Given the description of an element on the screen output the (x, y) to click on. 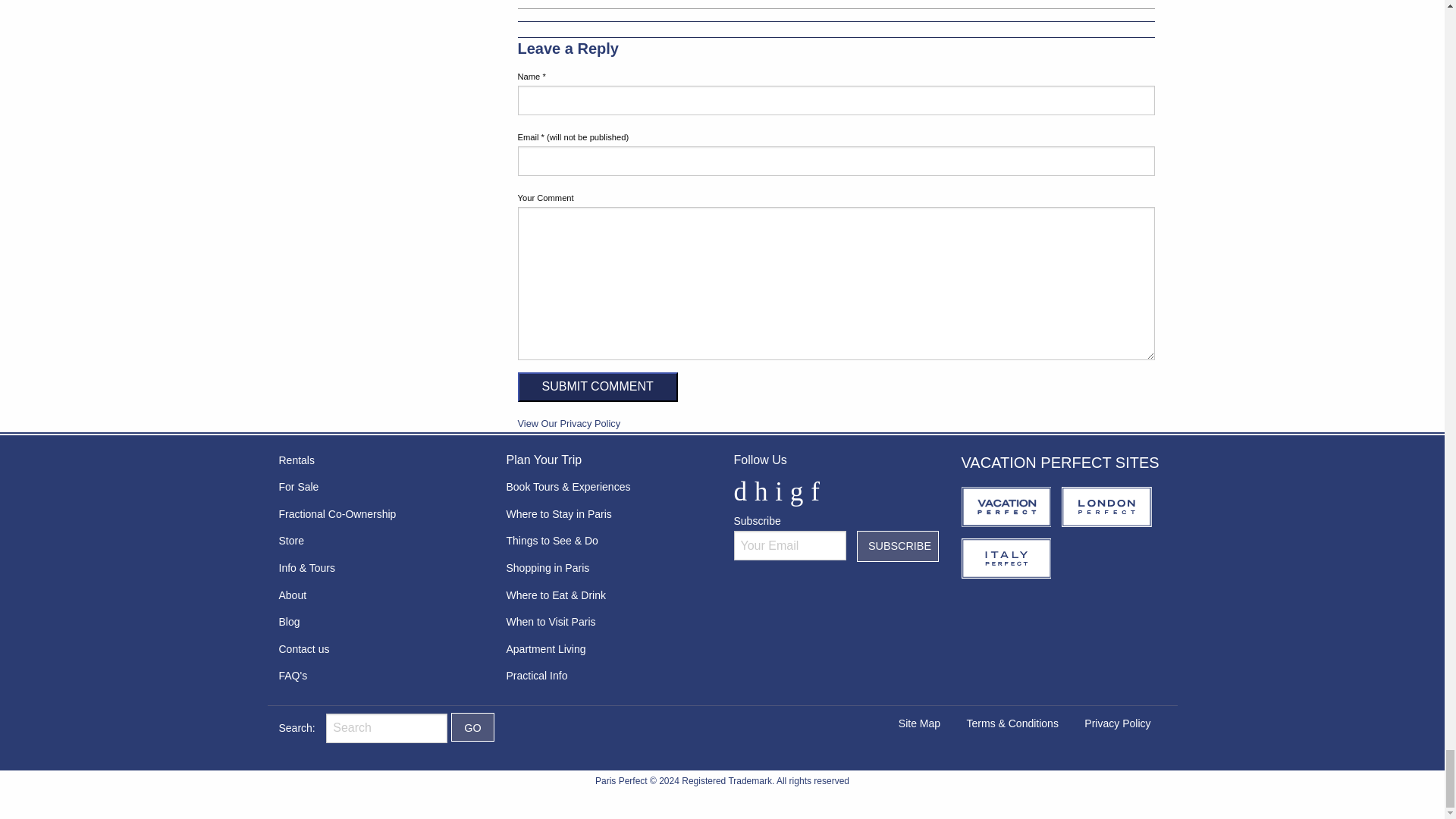
Submit Comment (596, 386)
Subscribe (898, 545)
Go (473, 727)
